Given the description of an element on the screen output the (x, y) to click on. 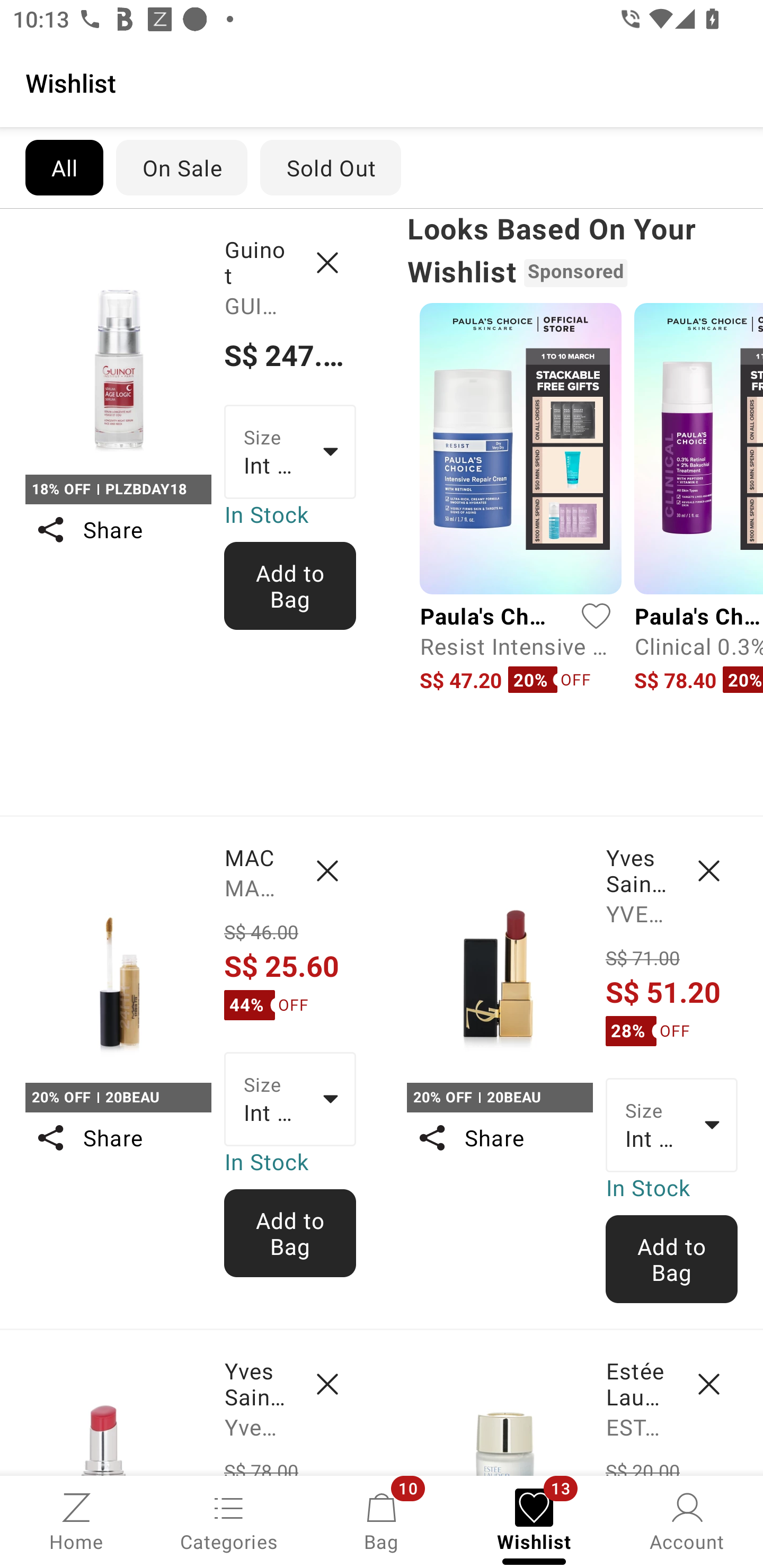
Wishlist (381, 82)
All (64, 167)
On Sale (181, 167)
Sold Out (330, 167)
Size Int One Size (290, 451)
Share (118, 529)
Add to Bag (290, 586)
Size Int One Size (290, 1099)
Size Int One Size (671, 1125)
Share (118, 1137)
Share (499, 1137)
Add to Bag (290, 1232)
Add to Bag (671, 1259)
Home (76, 1519)
Categories (228, 1519)
Bag, 10 new notifications Bag (381, 1519)
Account (686, 1519)
